Given the description of an element on the screen output the (x, y) to click on. 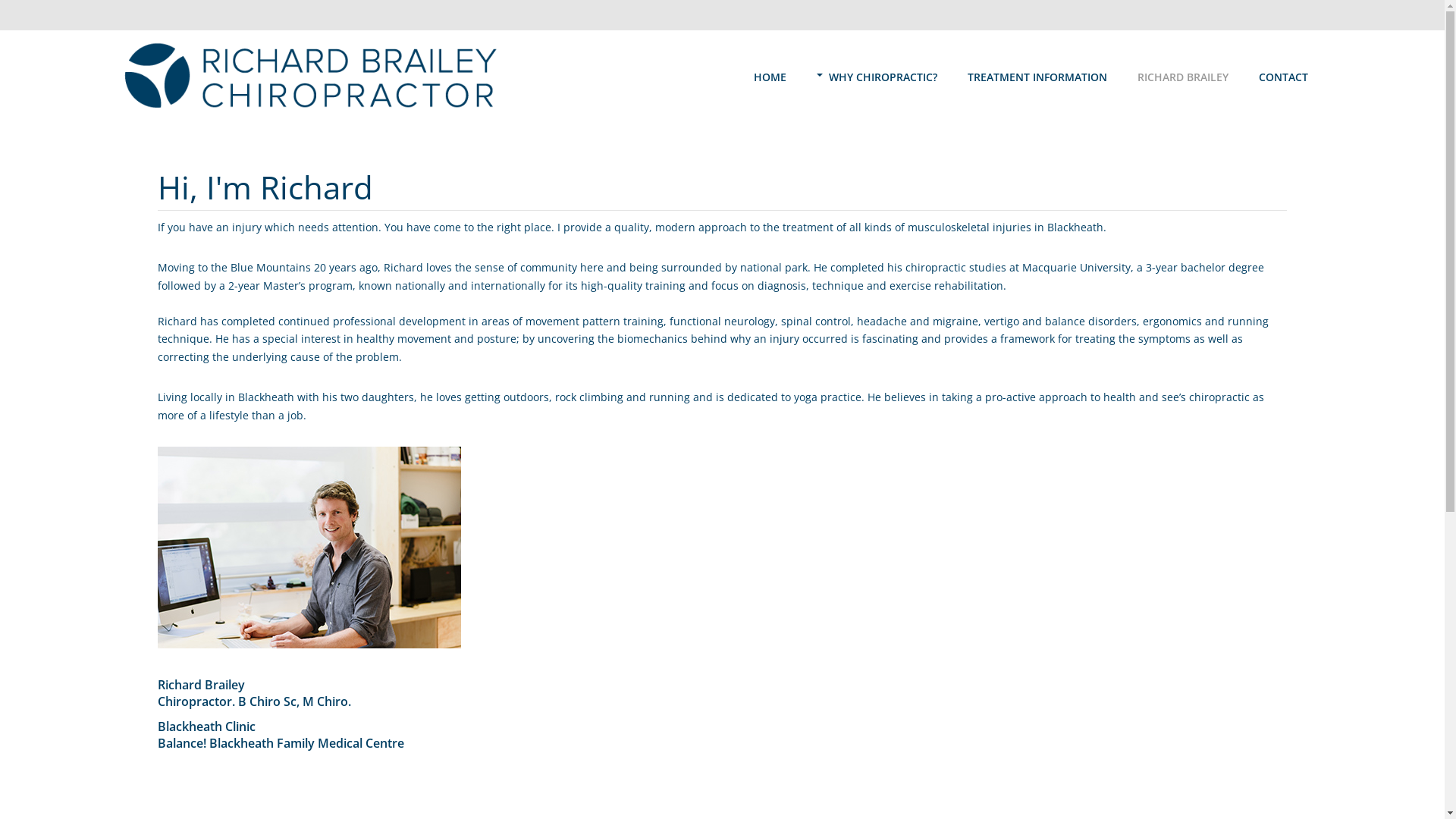
TREATMENT INFORMATION Element type: text (1037, 75)
HOME Element type: text (769, 75)
RICHARD BRAILEY Element type: text (1182, 75)
CONTACT Element type: text (1283, 75)
